Given the description of an element on the screen output the (x, y) to click on. 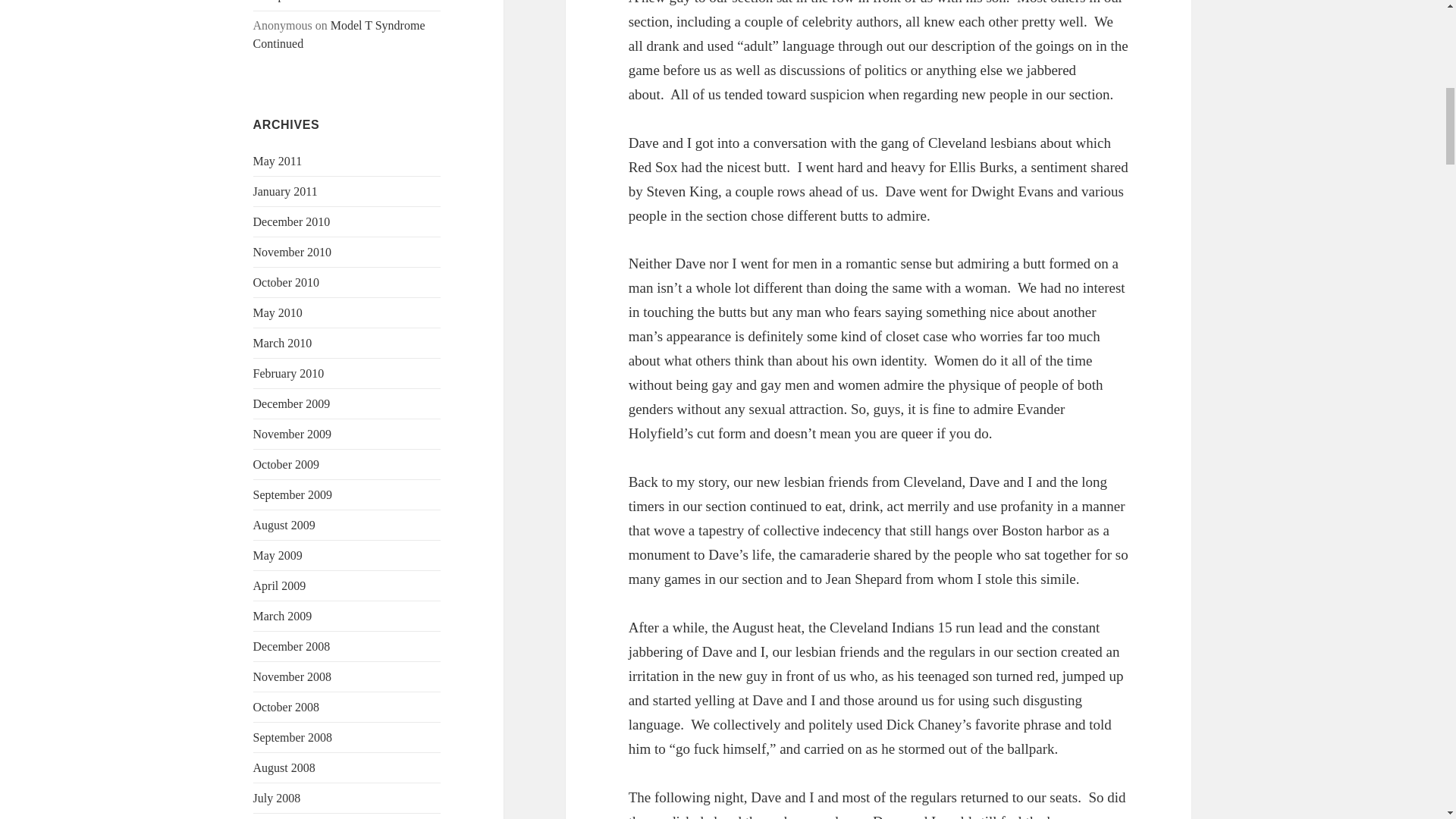
April 2009 (279, 585)
May 2010 (277, 312)
October 2010 (286, 282)
May 2011 (277, 160)
March 2009 (283, 615)
December 2008 (291, 645)
December 2009 (291, 403)
August 2009 (284, 524)
February 2010 (288, 373)
September 2009 (292, 494)
January 2011 (285, 191)
Model T Syndrome Continued (339, 33)
September 2008 (292, 737)
May 2009 (277, 554)
